Given the description of an element on the screen output the (x, y) to click on. 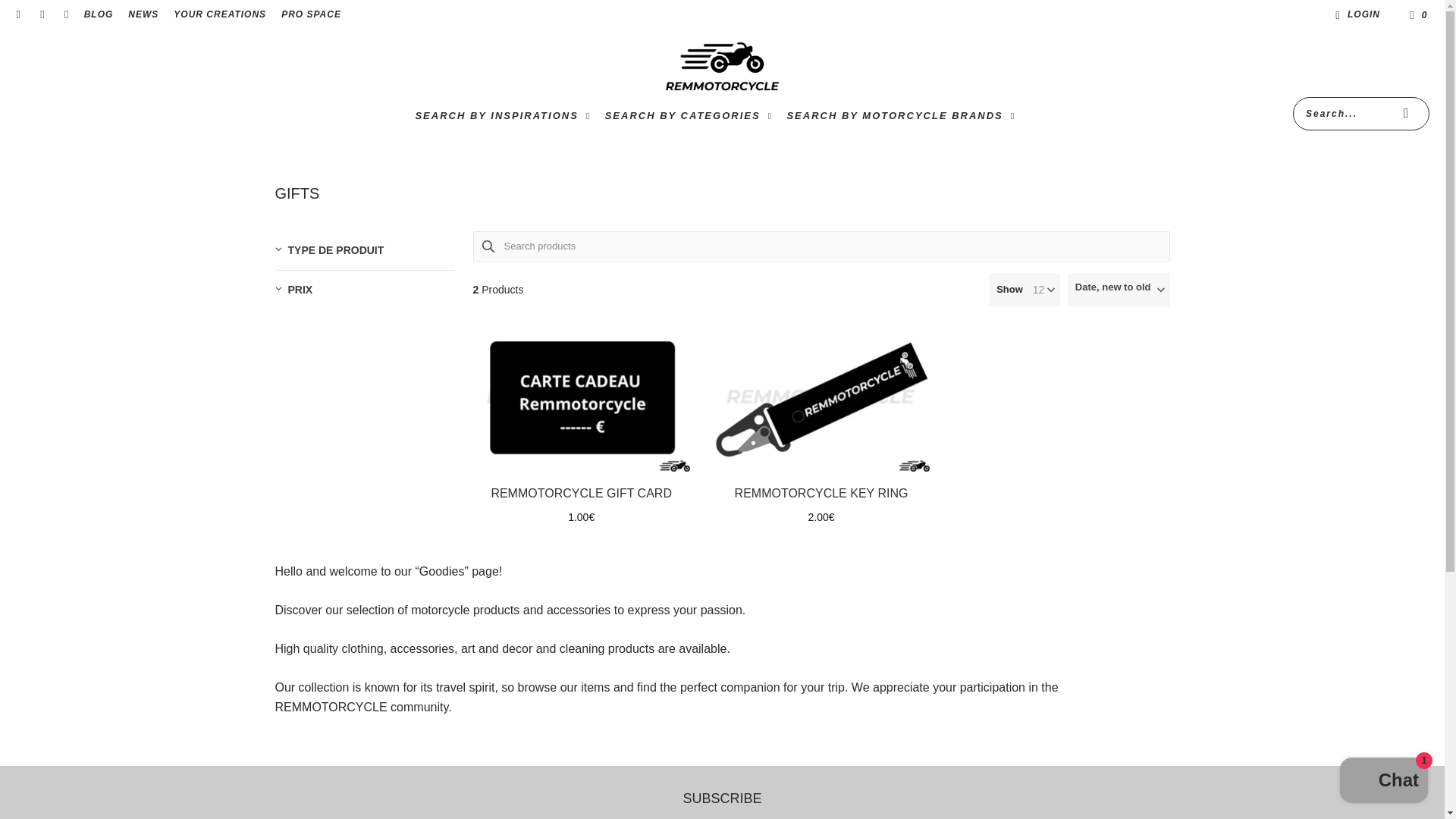
My Account  (1355, 14)
REMMOTORCYCLE (721, 67)
REMMOTORCYCLE on Instagram (41, 14)
REMMOTORCYCLE on Facebook (17, 14)
Shopify online store chat (1383, 781)
REMMOTORCYCLE on YouTube (65, 14)
